Given the description of an element on the screen output the (x, y) to click on. 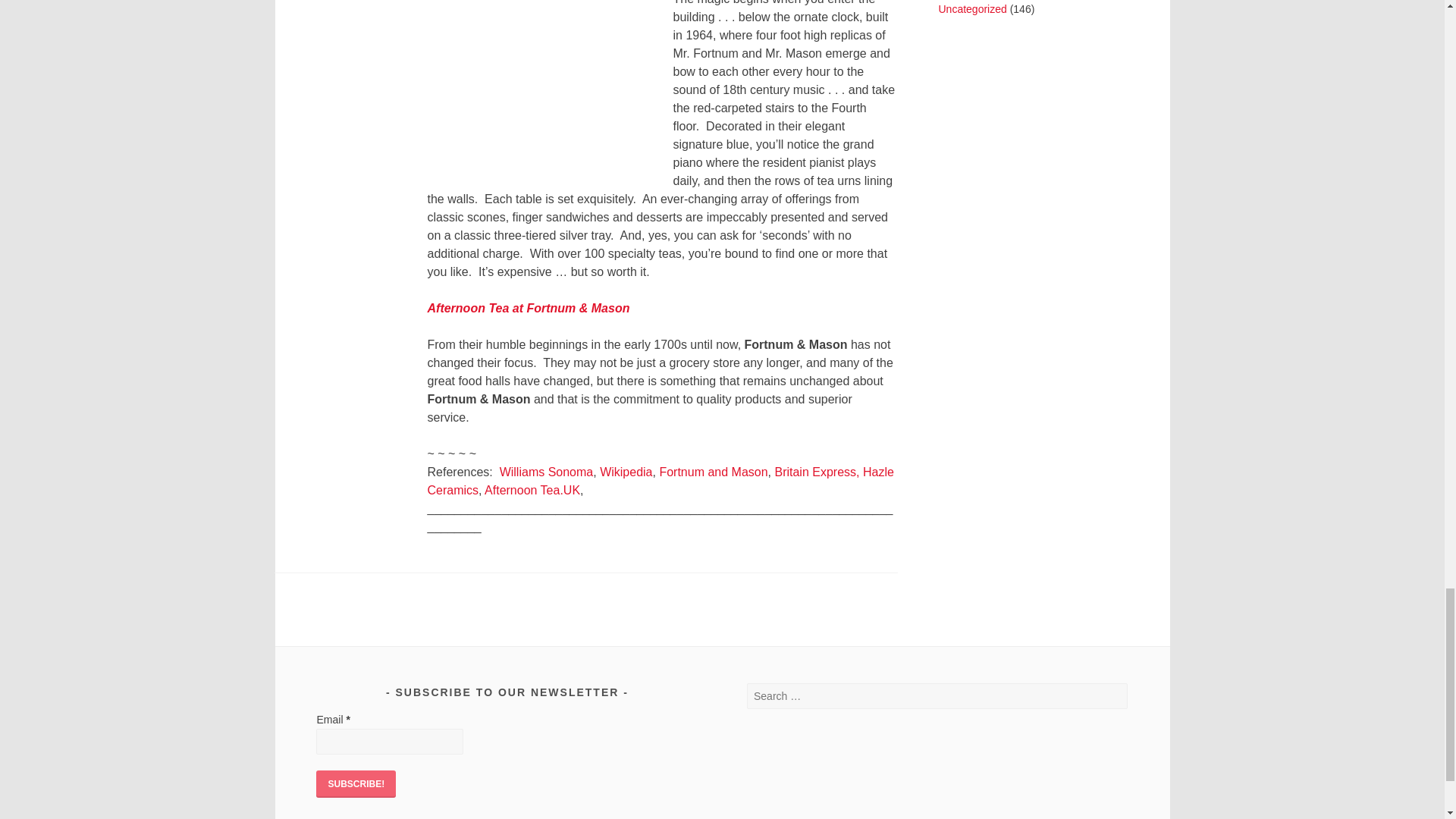
Wikipedia (625, 472)
Email (389, 741)
Williams Sonoma (546, 472)
Fortnum and Mason (713, 472)
Subscribe! (355, 783)
Britain Express, (816, 472)
Afternoon Tea.UK (531, 490)
Hazle Ceramics (660, 481)
